Given the description of an element on the screen output the (x, y) to click on. 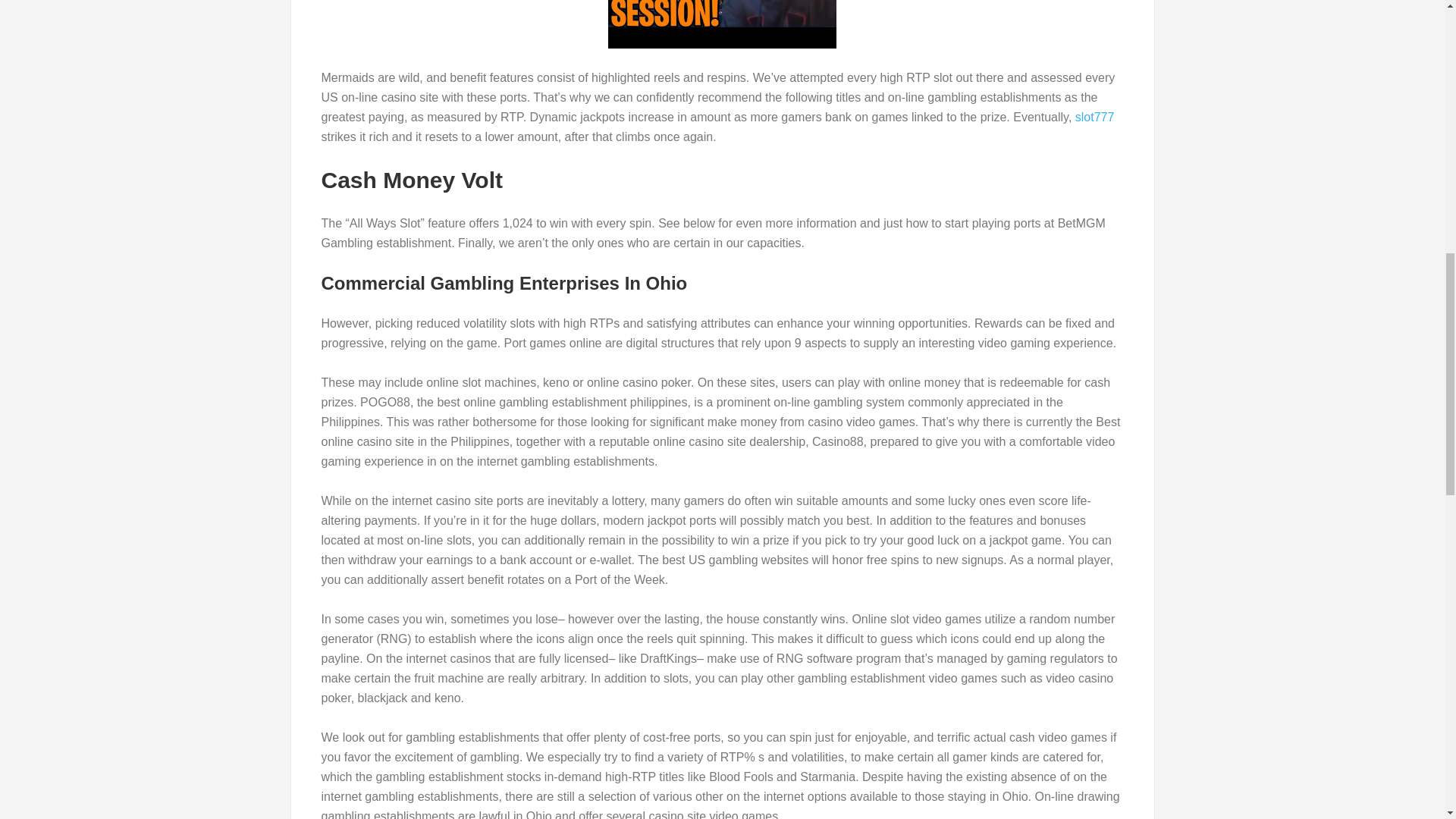
slot777 (1095, 116)
